Given the description of an element on the screen output the (x, y) to click on. 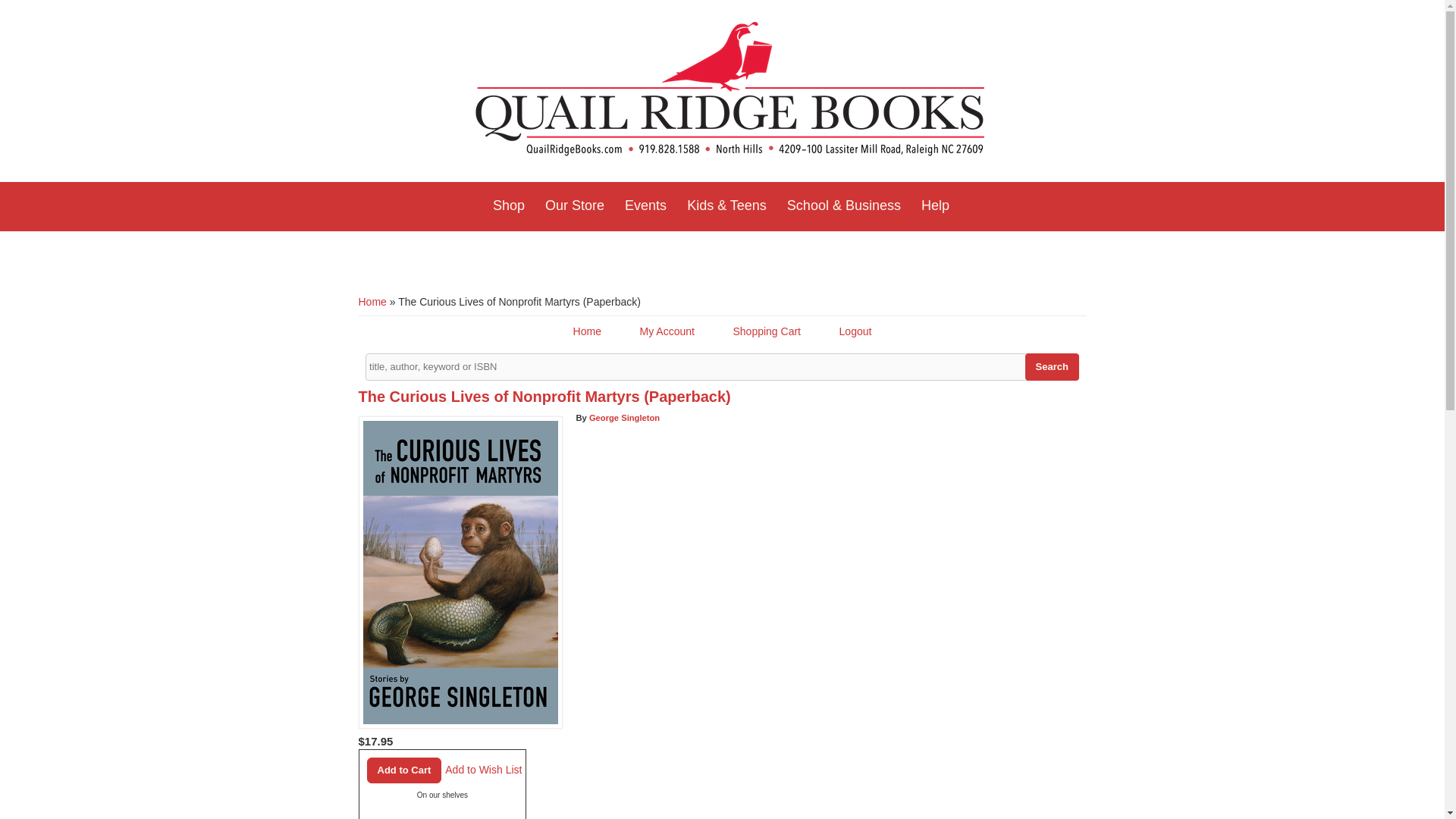
Shop (508, 205)
Help (935, 205)
Add to Cart (404, 769)
Events (645, 205)
Home (729, 90)
Search (1051, 366)
Our Store (573, 205)
